Given the description of an element on the screen output the (x, y) to click on. 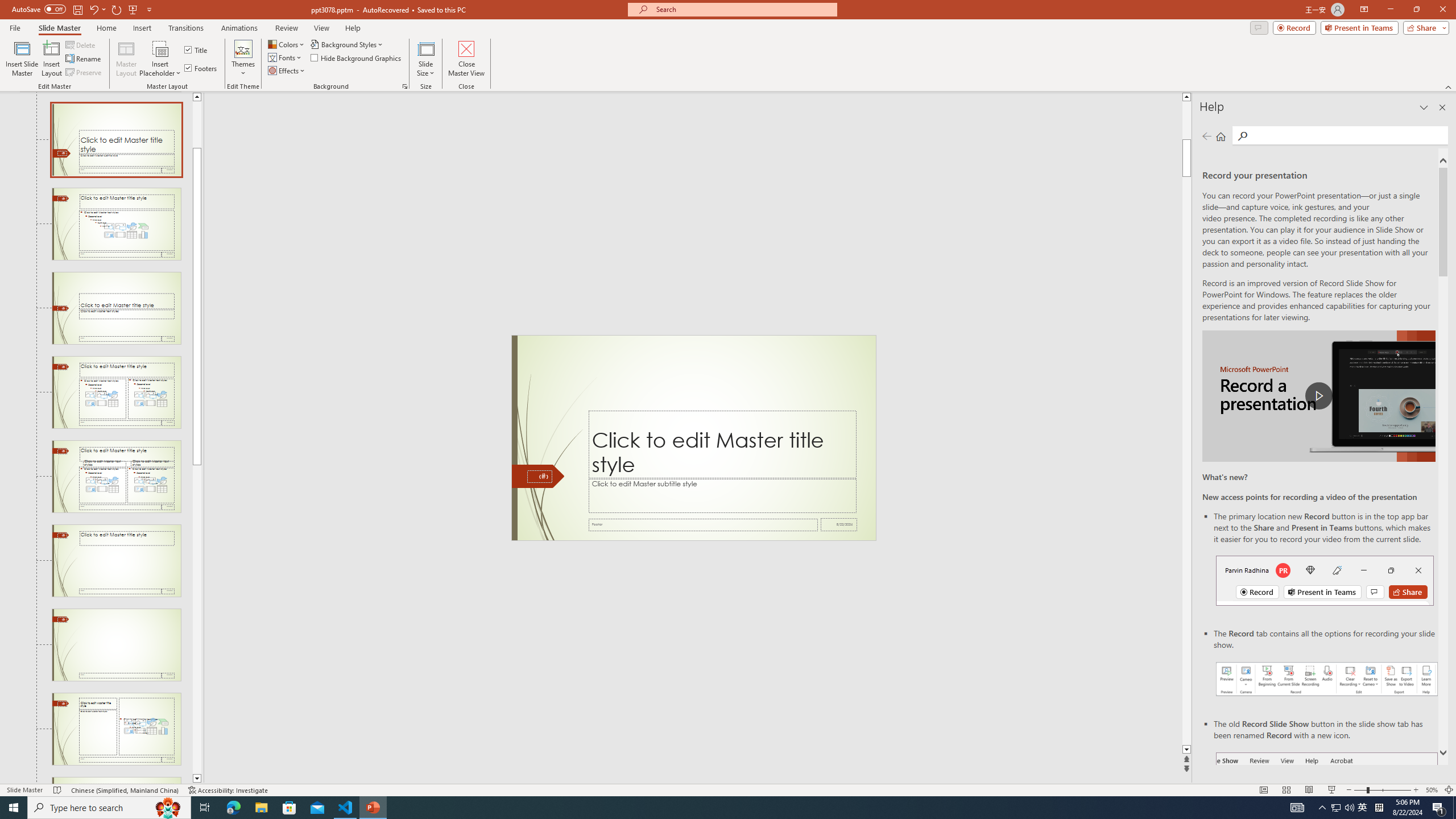
Freeform 6 (538, 476)
Slide Number (539, 476)
Format Background... (404, 85)
Content (160, 48)
Subtitle TextBox (722, 494)
